Given the description of an element on the screen output the (x, y) to click on. 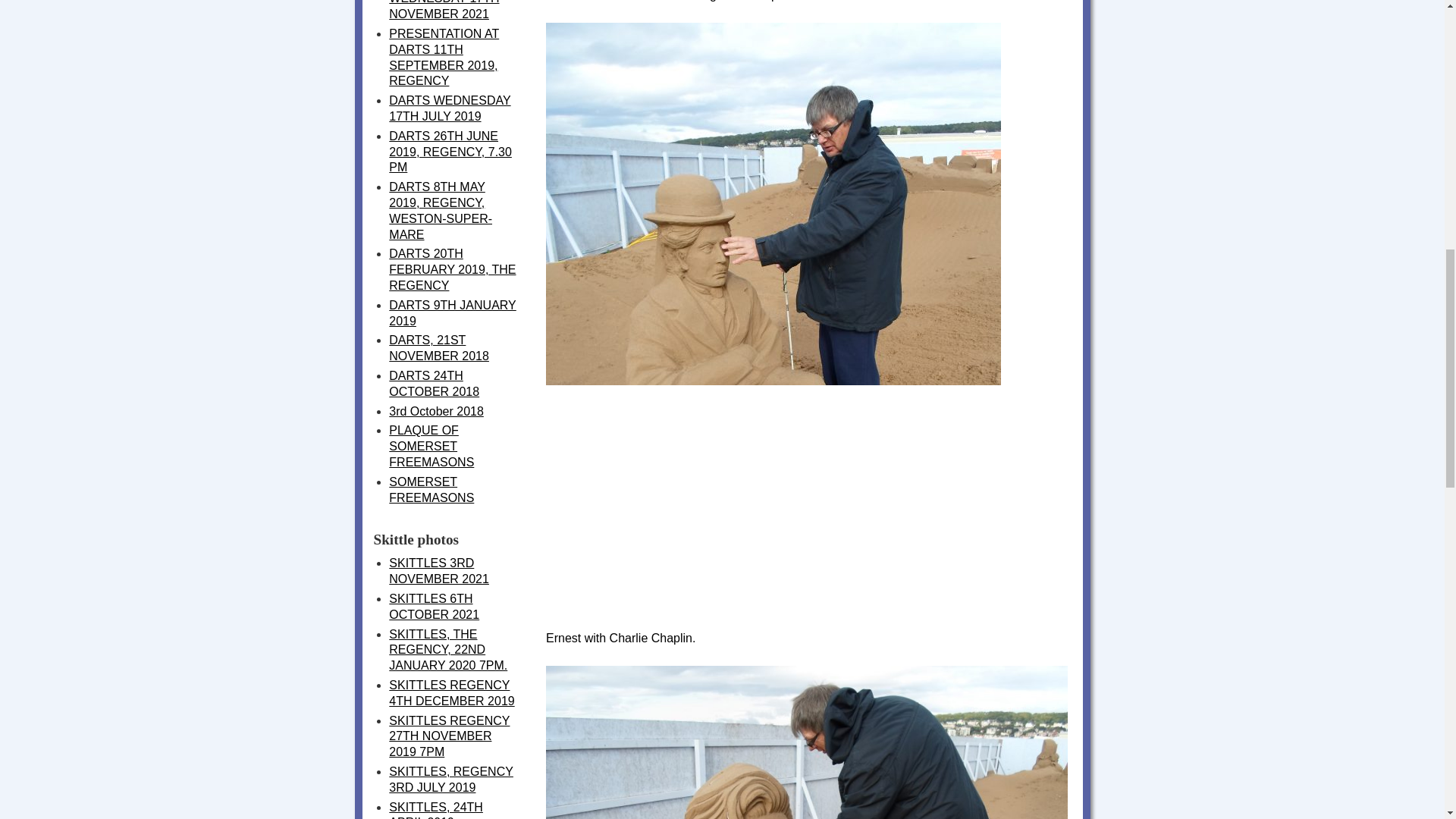
Ernest with Charlie Chaplin. (773, 625)
